Given the description of an element on the screen output the (x, y) to click on. 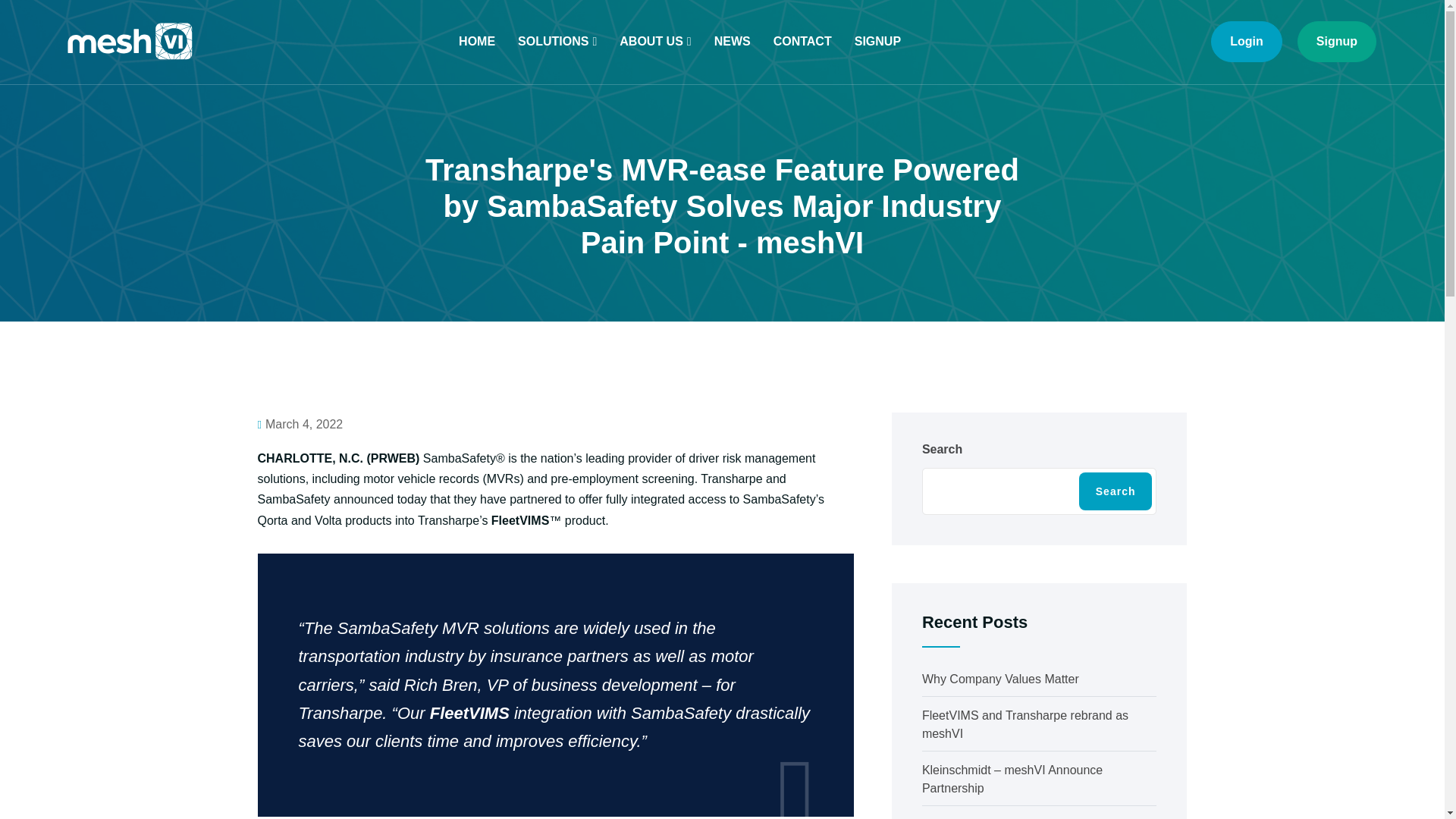
CONTACT (802, 42)
ABOUT US (654, 42)
SIGNUP (877, 42)
News (732, 42)
Why Company Values Matter (999, 678)
Solutions (557, 42)
Search (1115, 491)
Contact (802, 42)
Fleet Signup (1336, 41)
FleetVIMS (469, 712)
Signup (877, 42)
NEWS (732, 42)
HOME (476, 42)
FleetVIMS and Transharpe rebrand as meshVI (1024, 724)
